Given the description of an element on the screen output the (x, y) to click on. 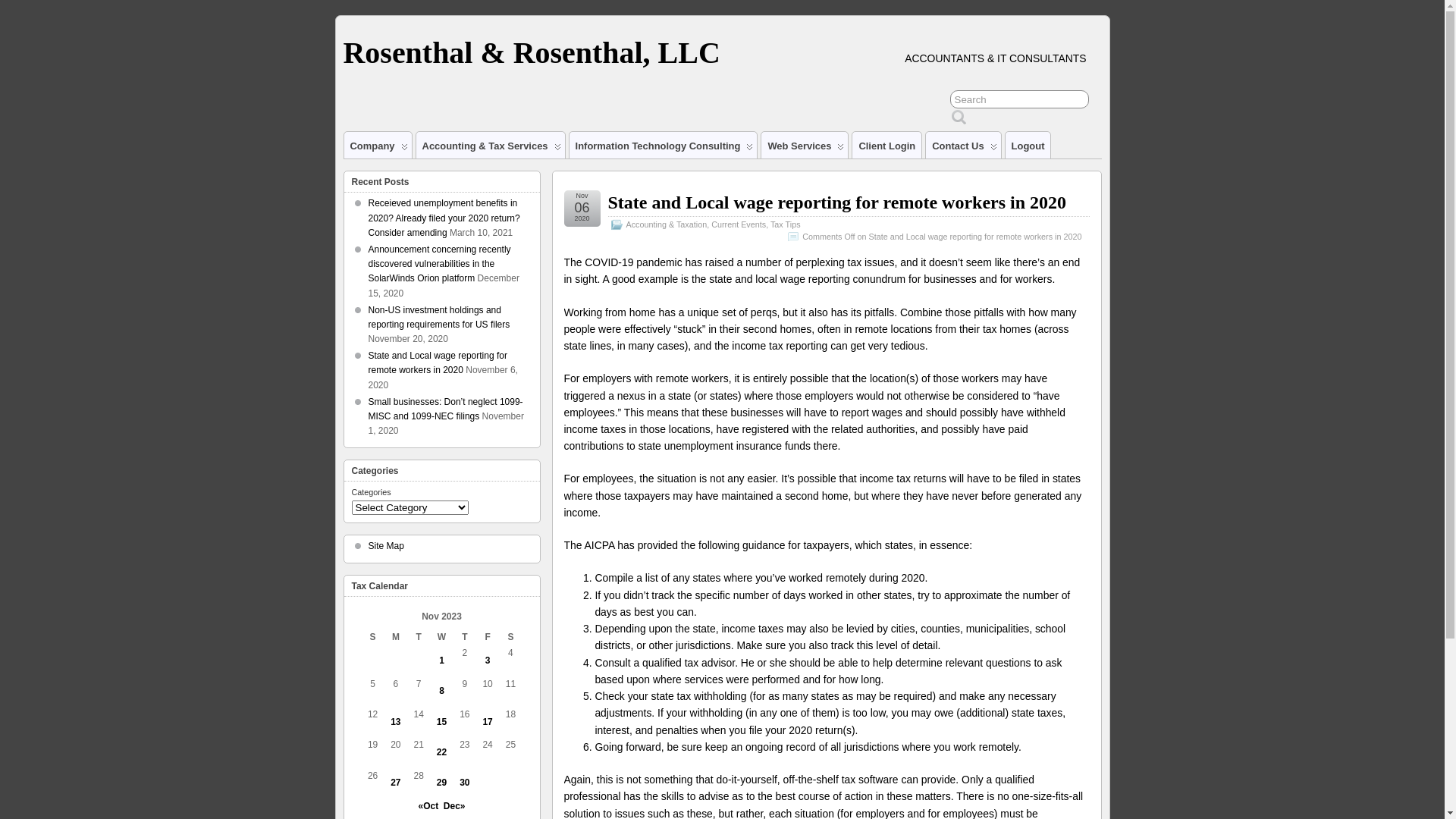
1 Element type: text (441, 660)
 Accounting & Tax Services Element type: text (490, 144)
State and Local wage reporting for remote workers in 2020 Element type: text (437, 362)
22 Element type: text (441, 751)
 Contact Us Element type: text (962, 144)
 Web Services Element type: text (804, 144)
8 Element type: text (441, 690)
30 Element type: text (464, 782)
3 Element type: text (487, 660)
Current Events Element type: text (738, 224)
Site Map Element type: text (386, 545)
State and Local wage reporting for remote workers in 2020 Element type: text (837, 202)
27 Element type: text (395, 782)
 Company Element type: text (377, 144)
Client Login Element type: text (886, 144)
13 Element type: text (395, 721)
15 Element type: text (441, 721)
 Information Technology Consulting Element type: text (663, 144)
17 Element type: text (487, 721)
Logout Element type: text (1028, 144)
Accounting & Taxation Element type: text (666, 224)
29 Element type: text (441, 782)
Rosenthal & Rosenthal, LLC Element type: text (530, 52)
Tax Tips Element type: text (785, 224)
